Given the description of an element on the screen output the (x, y) to click on. 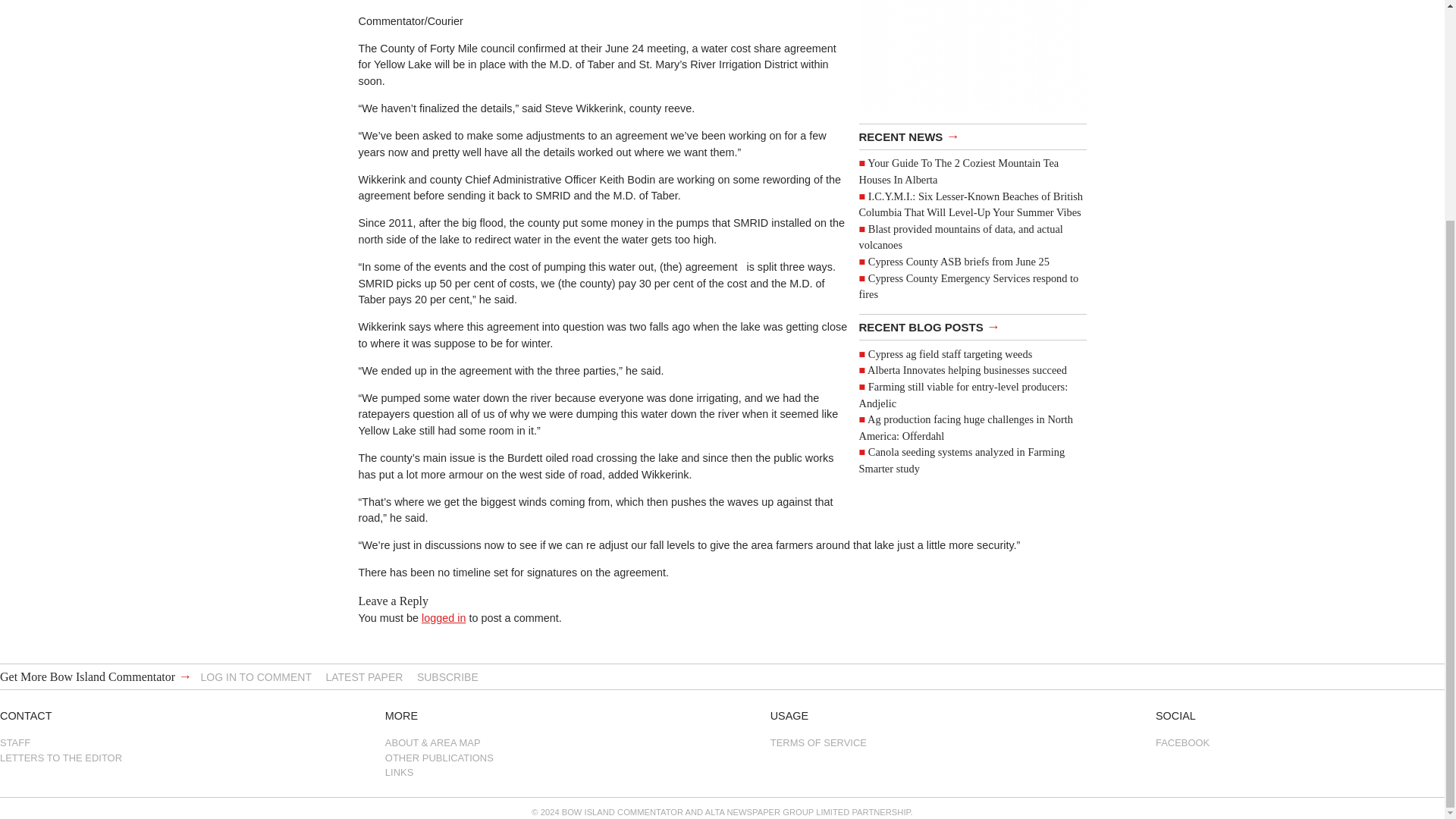
SUBSCRIBE (447, 676)
Alberta Innovates helping businesses succeed (967, 369)
Cypress ag field staff targeting weeds (949, 354)
Your Guide To The 2 Coziest Mountain Tea Houses In Alberta (958, 171)
Cypress County Emergency Services respond to fires (968, 286)
Cypress County ASB briefs from June 25 (958, 261)
Canola seeding systems analyzed in Farming Smarter study (961, 460)
LOG IN TO COMMENT (256, 676)
